Given the description of an element on the screen output the (x, y) to click on. 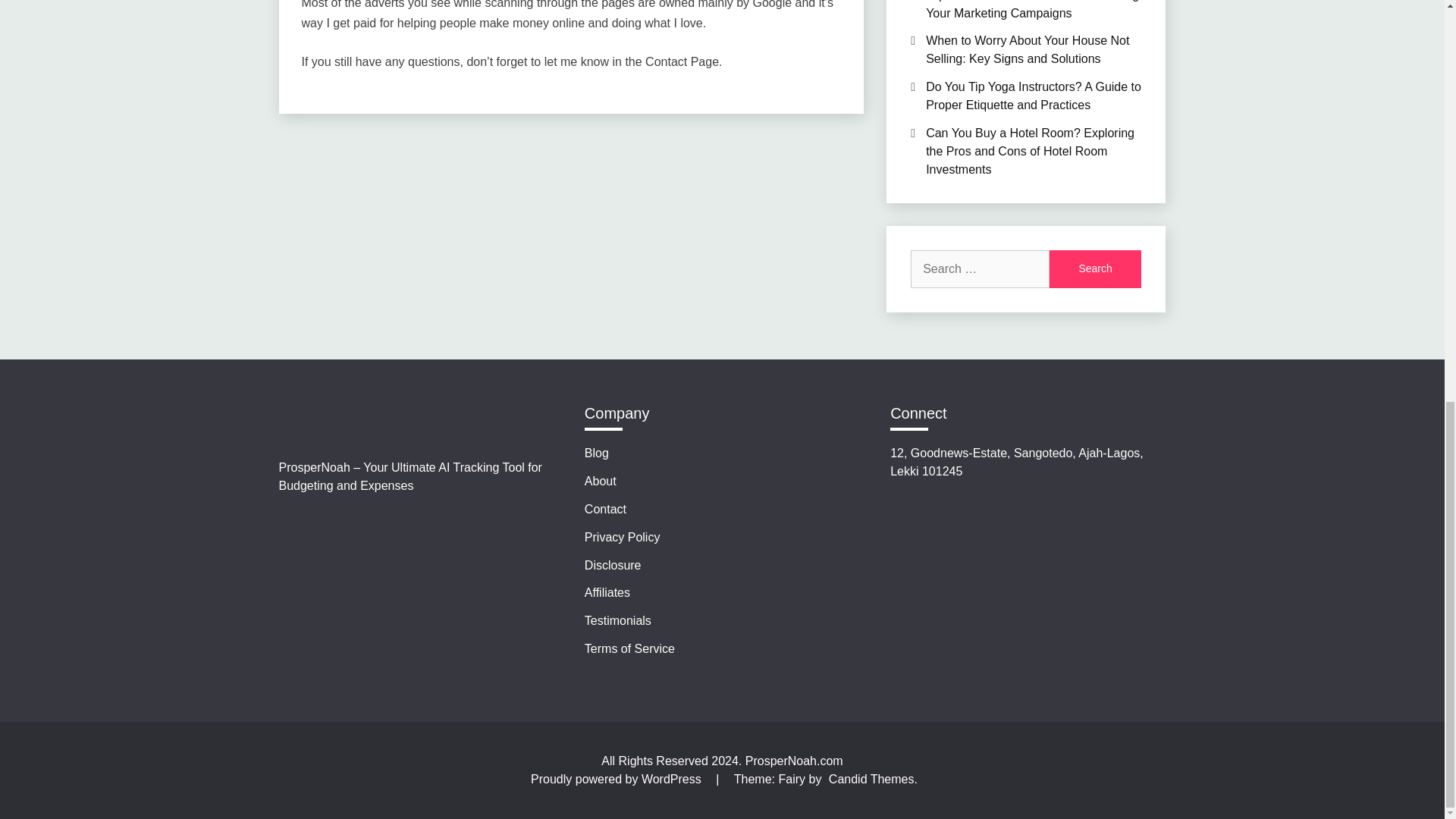
Testimonials (617, 620)
Disclosure (613, 564)
Affiliates (607, 592)
Candid Themes (871, 779)
Privacy Policy (623, 536)
Proudly powered by WordPress (617, 779)
Contact (605, 508)
Terms of Service (630, 648)
Search (1095, 269)
Search (1095, 269)
Blog (596, 452)
About (600, 481)
